Given the description of an element on the screen output the (x, y) to click on. 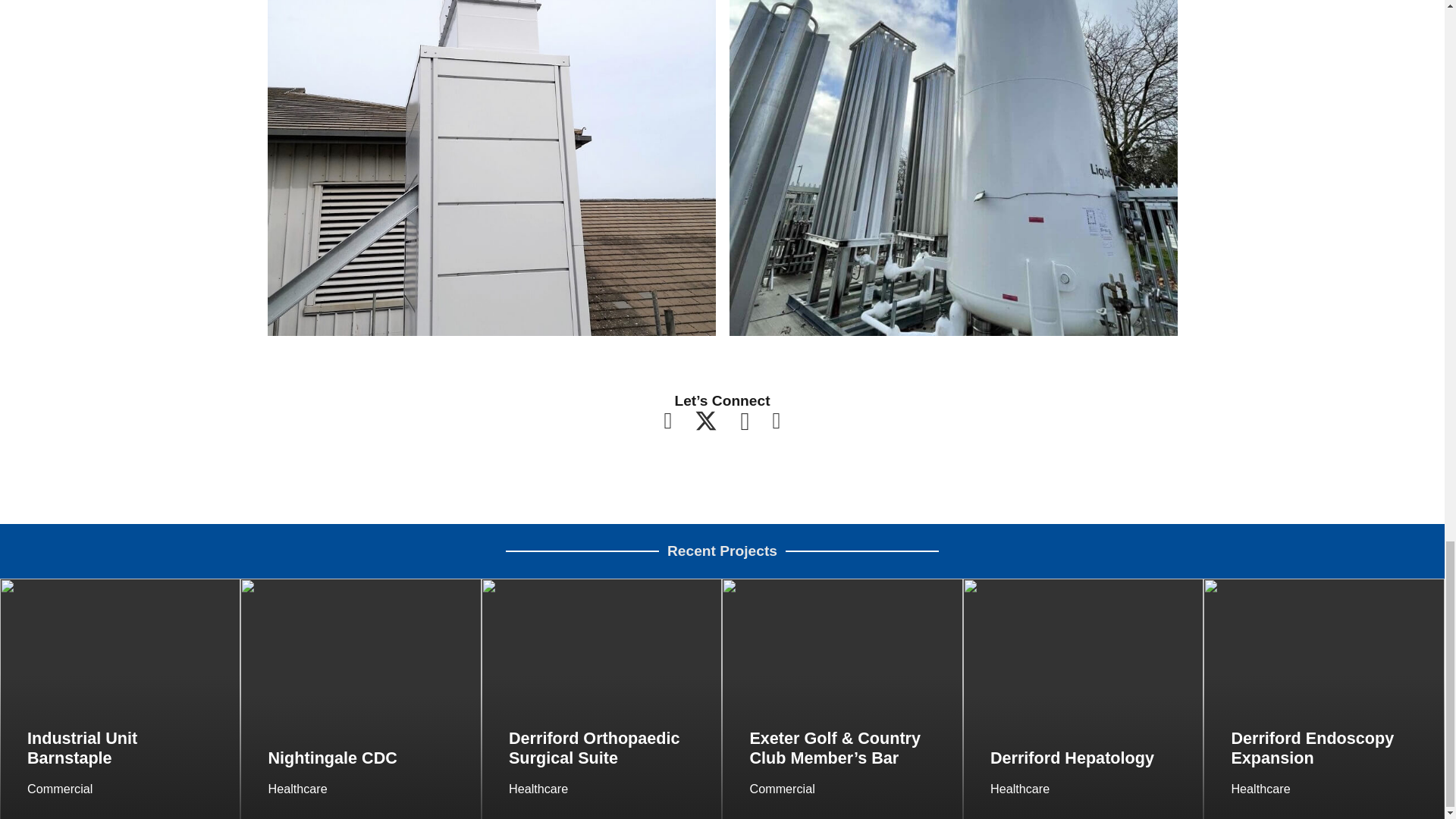
Facebook (667, 420)
Healthcare (1019, 788)
Healthcare (296, 788)
Instagram (744, 421)
LinkedIn (776, 420)
Commercial (60, 788)
Healthcare (537, 788)
Commercial (781, 788)
Twitter (705, 421)
